Given the description of an element on the screen output the (x, y) to click on. 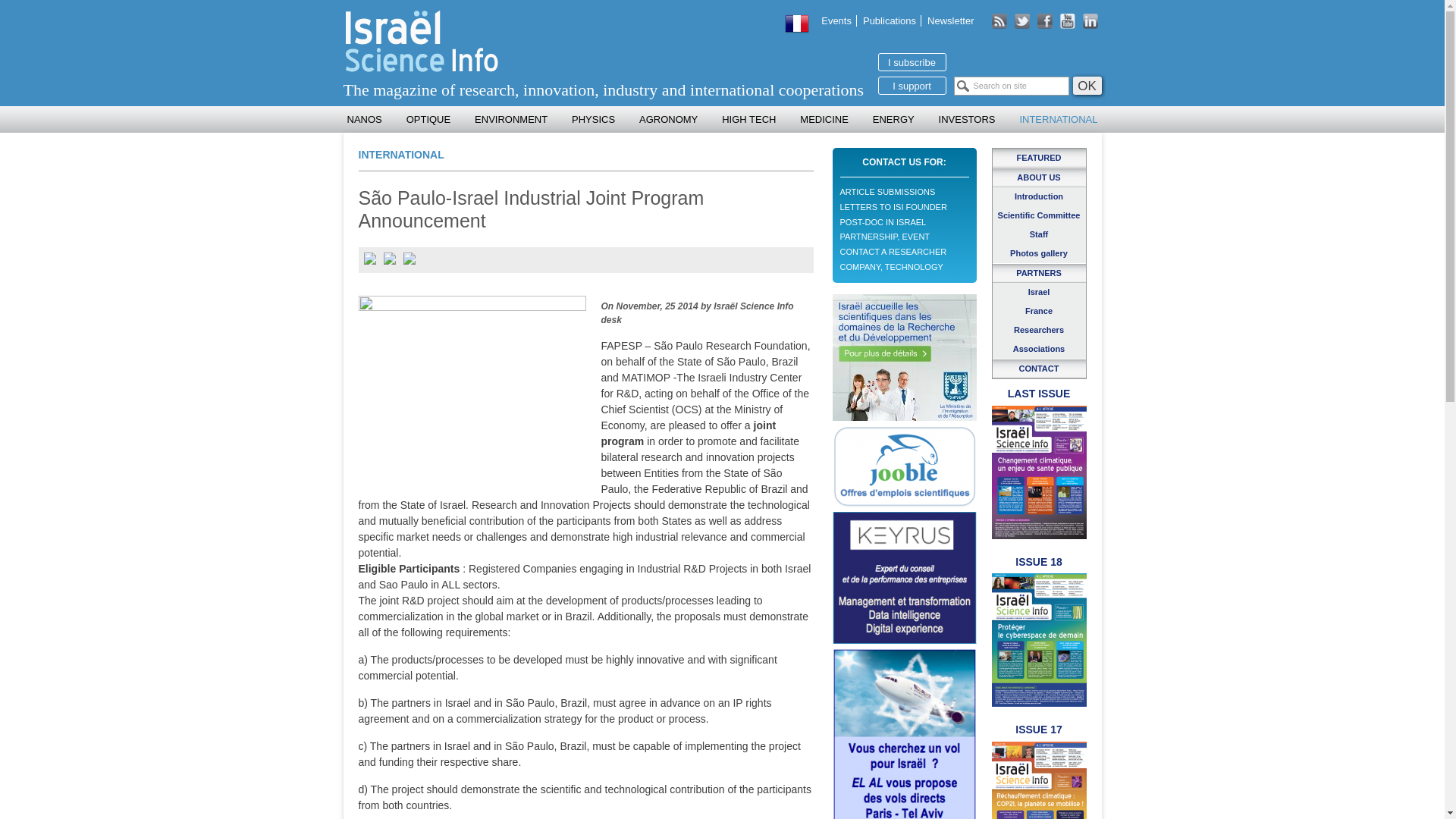
OK (1085, 85)
ENERGY (892, 119)
YouTube (1000, 21)
FEATURED (1037, 157)
CONTACT A RESEARCHER (893, 251)
ENVIRONMENT (510, 119)
AGRONOMY (667, 119)
Linkedin (1092, 21)
PHYSICS (593, 119)
RSS (1000, 21)
